Given the description of an element on the screen output the (x, y) to click on. 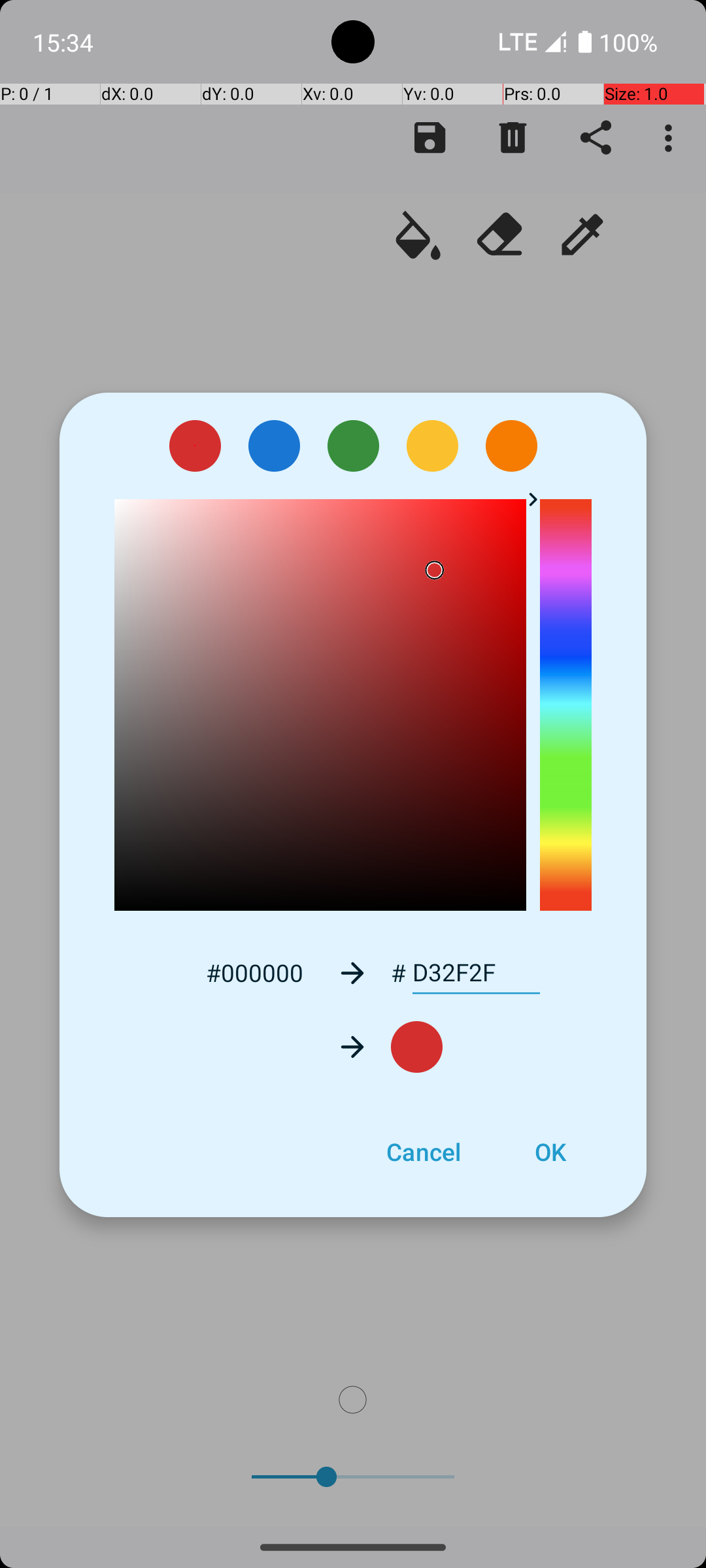
#000000 Element type: android.widget.TextView (254, 972)
D32F2F Element type: android.widget.EditText (475, 972)
